Given the description of an element on the screen output the (x, y) to click on. 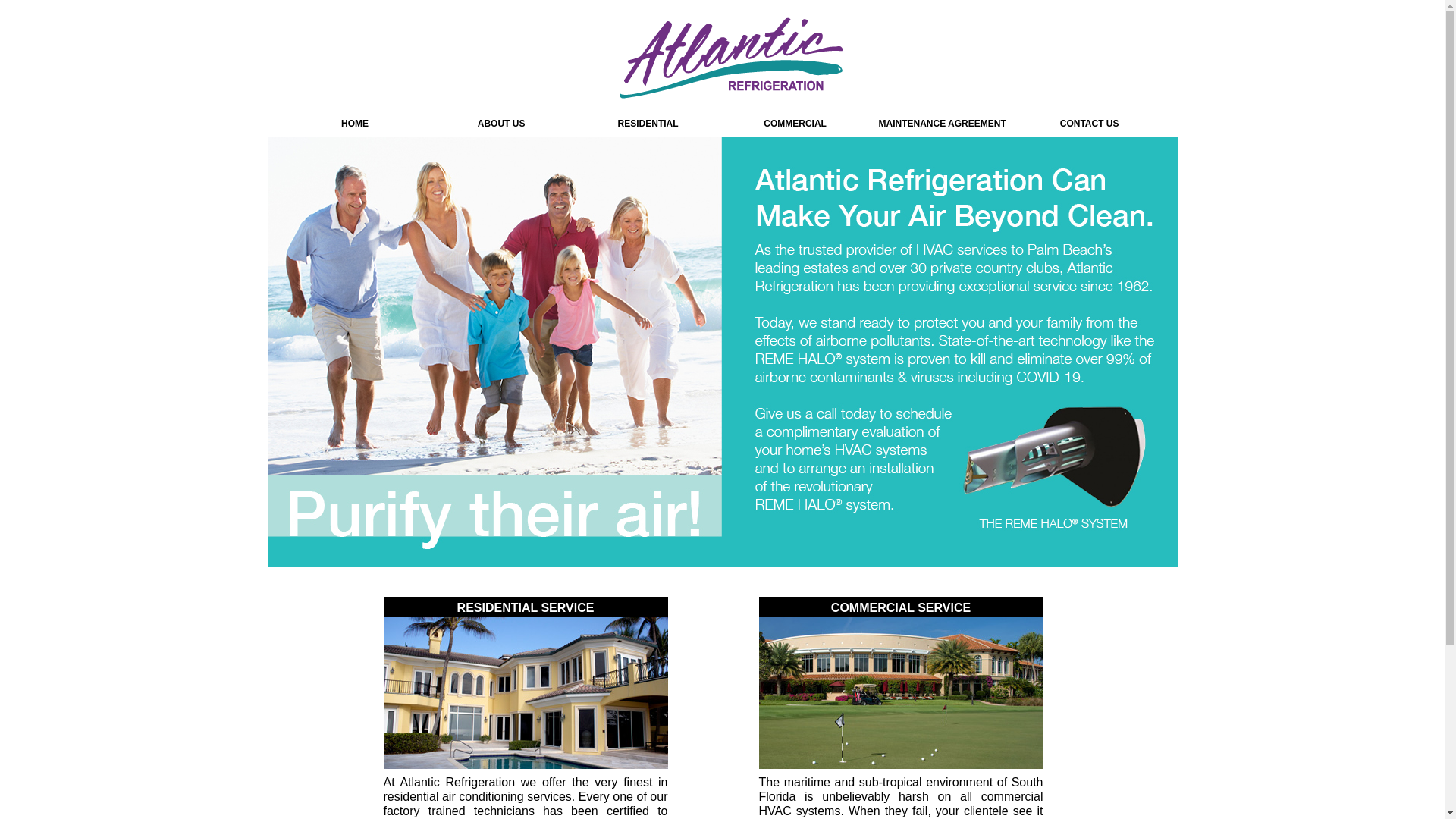
CONTACT US Element type: text (1089, 123)
RESIDENTIAL Element type: text (648, 123)
HOME Element type: text (354, 123)
ABOUT US Element type: text (501, 123)
COMMERCIAL Element type: text (795, 123)
MAINTENANCE AGREEMENT Element type: text (942, 123)
